Given the description of an element on the screen output the (x, y) to click on. 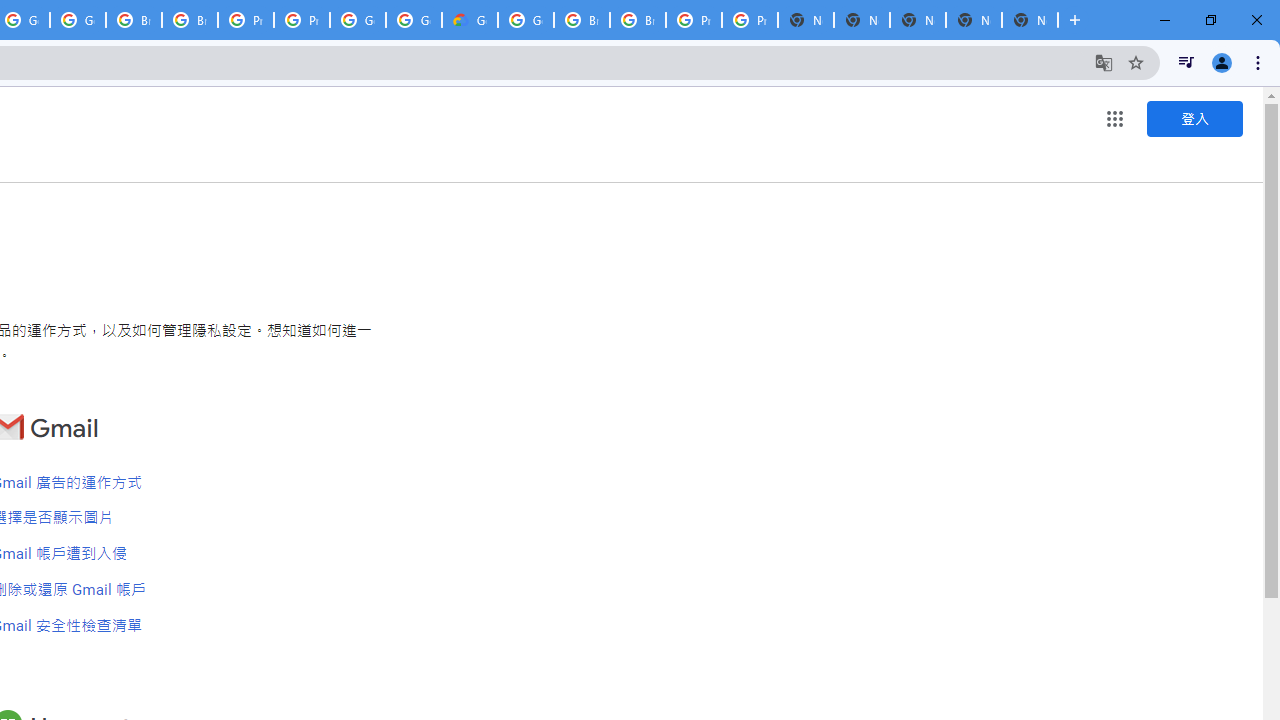
Google Cloud Platform (525, 20)
Browse Chrome as a guest - Computer - Google Chrome Help (134, 20)
Google Cloud Platform (413, 20)
Google Cloud Platform (358, 20)
